Given the description of an element on the screen output the (x, y) to click on. 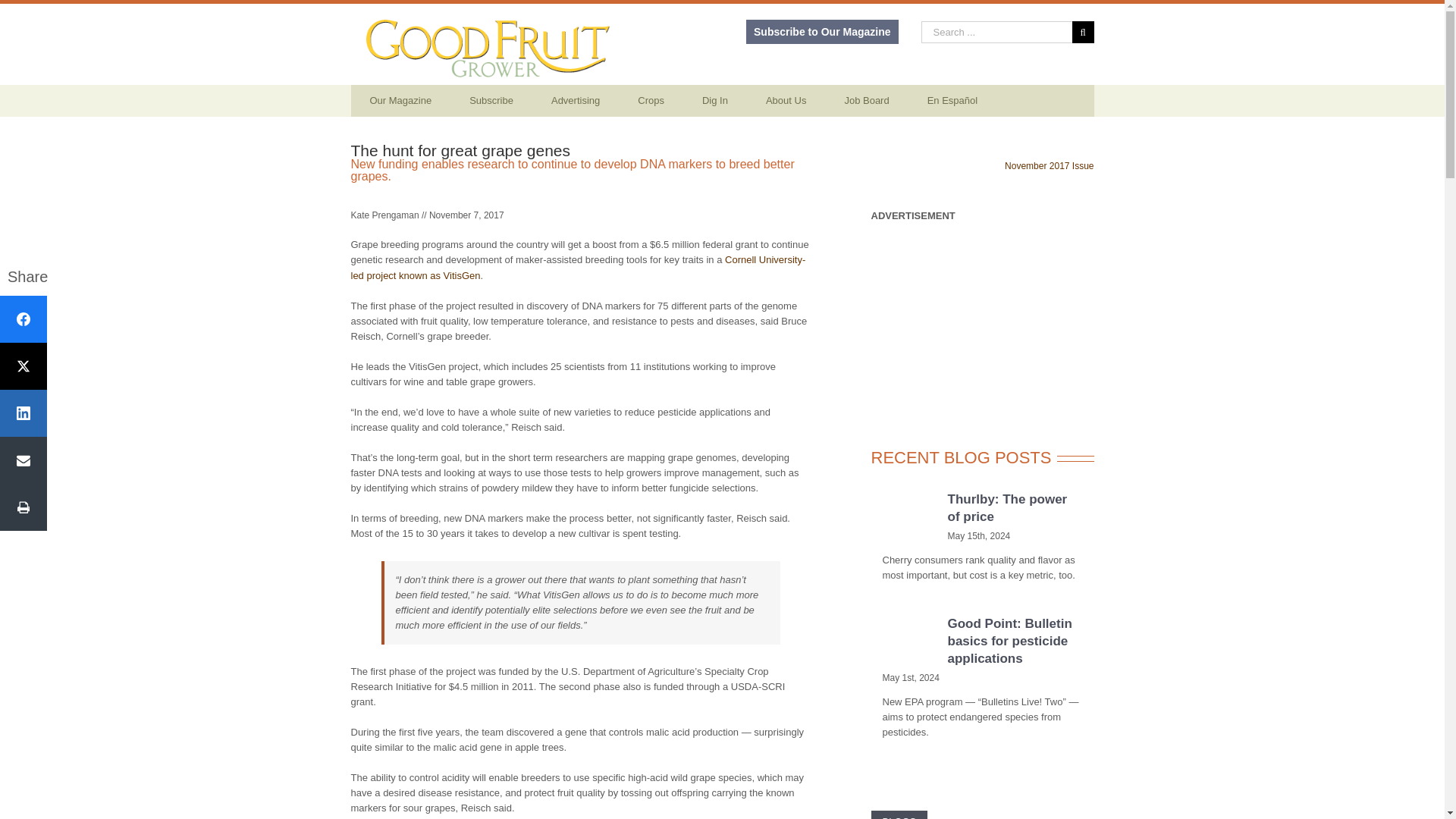
Our Magazine (400, 101)
About Us (785, 101)
Subscribe to Our Magazine (821, 31)
Subscribe (490, 101)
Advertising (575, 101)
